Given the description of an element on the screen output the (x, y) to click on. 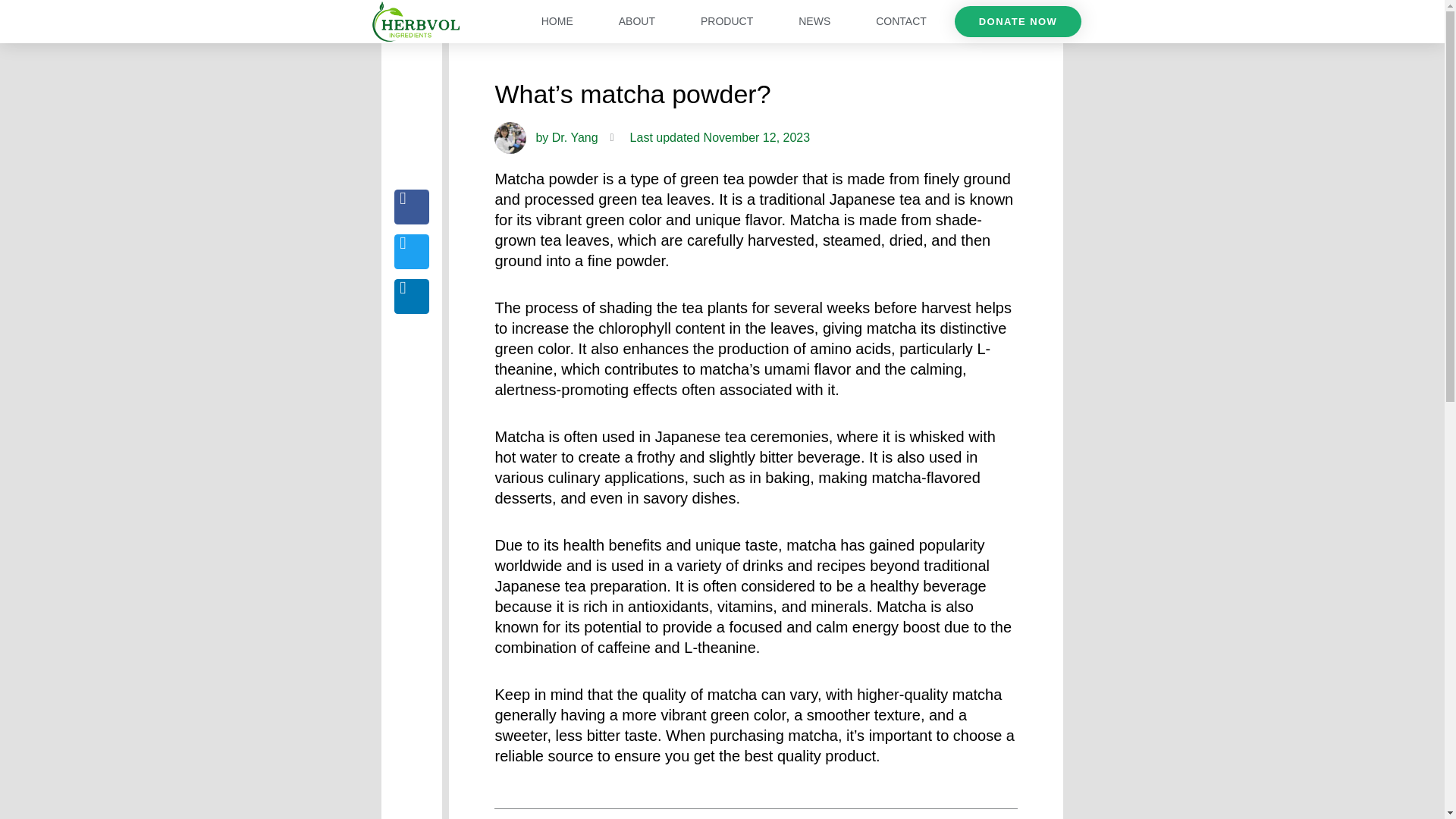
CONTACT (901, 20)
Linkedin (411, 296)
PRODUCT (726, 20)
DONATE NOW (1018, 20)
NEWS (813, 20)
Facebook (411, 206)
Twitter (411, 251)
ABOUT (636, 20)
HOME (557, 20)
